Given the description of an element on the screen output the (x, y) to click on. 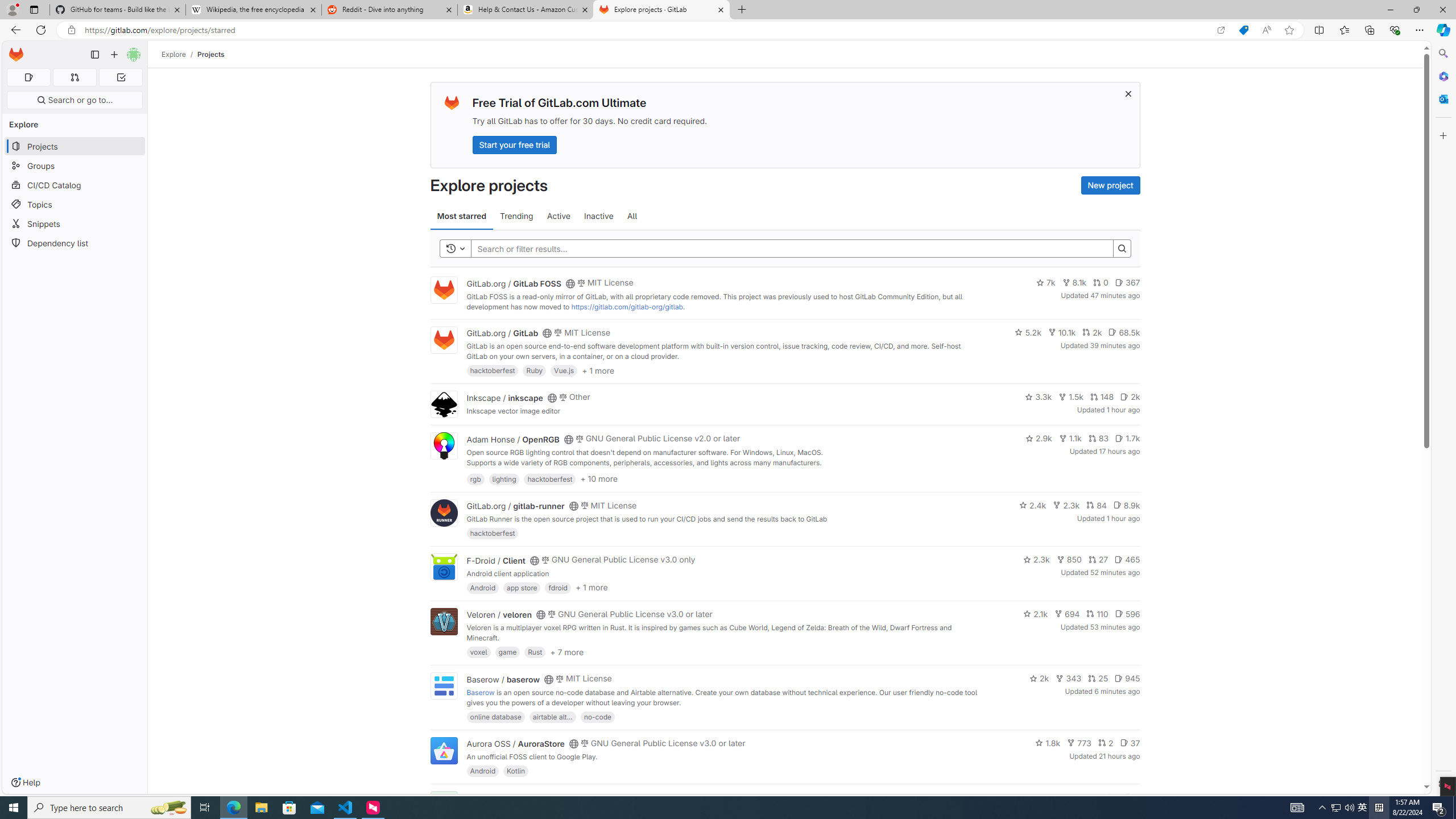
F (443, 805)
2.1k (1035, 613)
6 (1132, 797)
GitLab.org / gitlab-runner (514, 506)
0 (1100, 282)
Primary navigation sidebar (94, 54)
+ 1 more (591, 587)
voxel (478, 651)
Class: s14 gl-mr-2 (1128, 796)
GitLab.org / GitLab FOSS (513, 283)
Shopping in Microsoft Edge (1243, 29)
fdroid (558, 587)
